Given the description of an element on the screen output the (x, y) to click on. 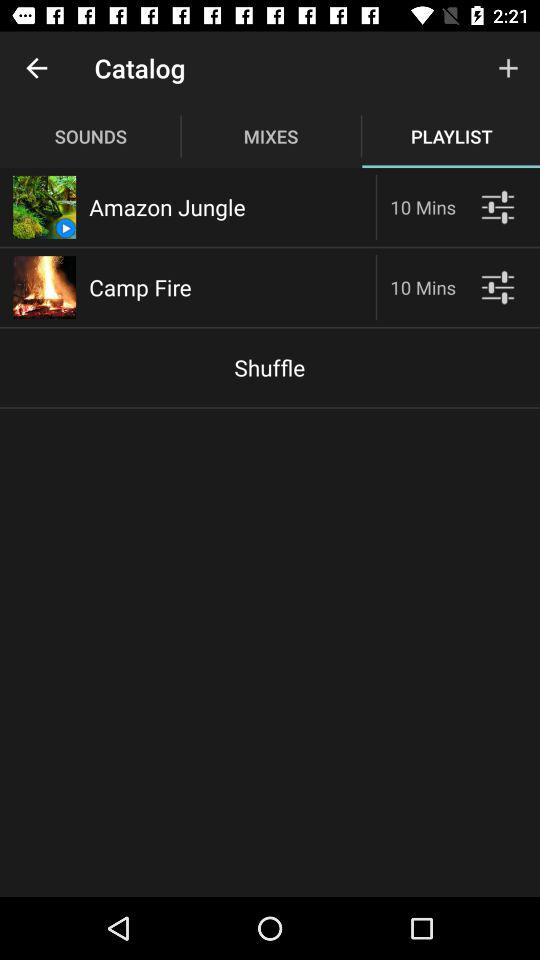
click the playlist (498, 206)
